Given the description of an element on the screen output the (x, y) to click on. 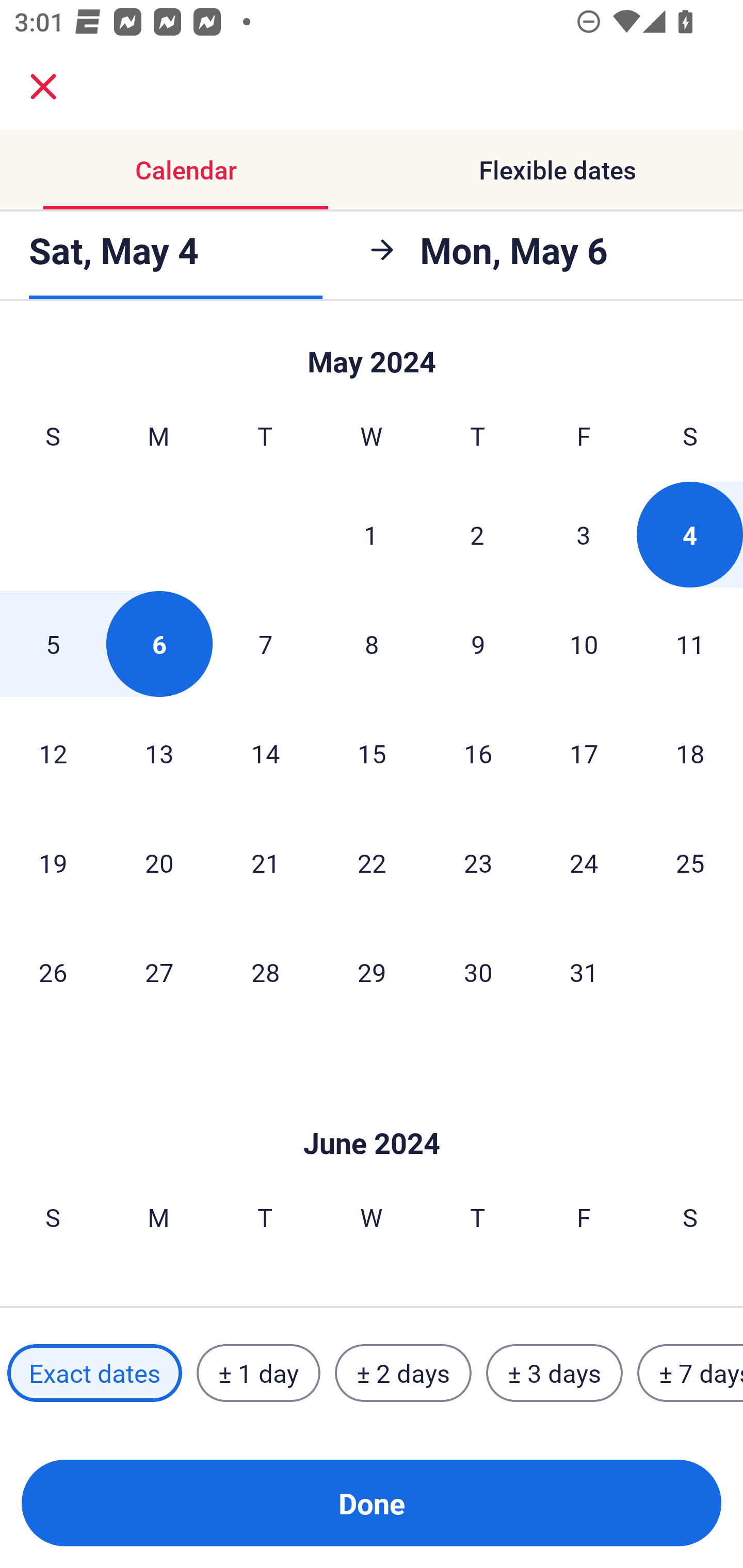
close. (43, 86)
Flexible dates (557, 170)
Skip to Done (371, 352)
1 Wednesday, May 1, 2024 (371, 534)
2 Thursday, May 2, 2024 (477, 534)
3 Friday, May 3, 2024 (583, 534)
7 Tuesday, May 7, 2024 (265, 643)
8 Wednesday, May 8, 2024 (371, 643)
9 Thursday, May 9, 2024 (477, 643)
10 Friday, May 10, 2024 (584, 643)
11 Saturday, May 11, 2024 (690, 643)
12 Sunday, May 12, 2024 (53, 752)
13 Monday, May 13, 2024 (159, 752)
14 Tuesday, May 14, 2024 (265, 752)
15 Wednesday, May 15, 2024 (371, 752)
16 Thursday, May 16, 2024 (477, 752)
17 Friday, May 17, 2024 (584, 752)
18 Saturday, May 18, 2024 (690, 752)
19 Sunday, May 19, 2024 (53, 862)
20 Monday, May 20, 2024 (159, 862)
21 Tuesday, May 21, 2024 (265, 862)
22 Wednesday, May 22, 2024 (371, 862)
23 Thursday, May 23, 2024 (477, 862)
24 Friday, May 24, 2024 (584, 862)
25 Saturday, May 25, 2024 (690, 862)
26 Sunday, May 26, 2024 (53, 971)
27 Monday, May 27, 2024 (159, 971)
28 Tuesday, May 28, 2024 (265, 971)
29 Wednesday, May 29, 2024 (371, 971)
30 Thursday, May 30, 2024 (477, 971)
31 Friday, May 31, 2024 (584, 971)
Skip to Done (371, 1112)
Exact dates (94, 1372)
± 1 day (258, 1372)
± 2 days (403, 1372)
± 3 days (553, 1372)
± 7 days (690, 1372)
Done (371, 1502)
